Given the description of an element on the screen output the (x, y) to click on. 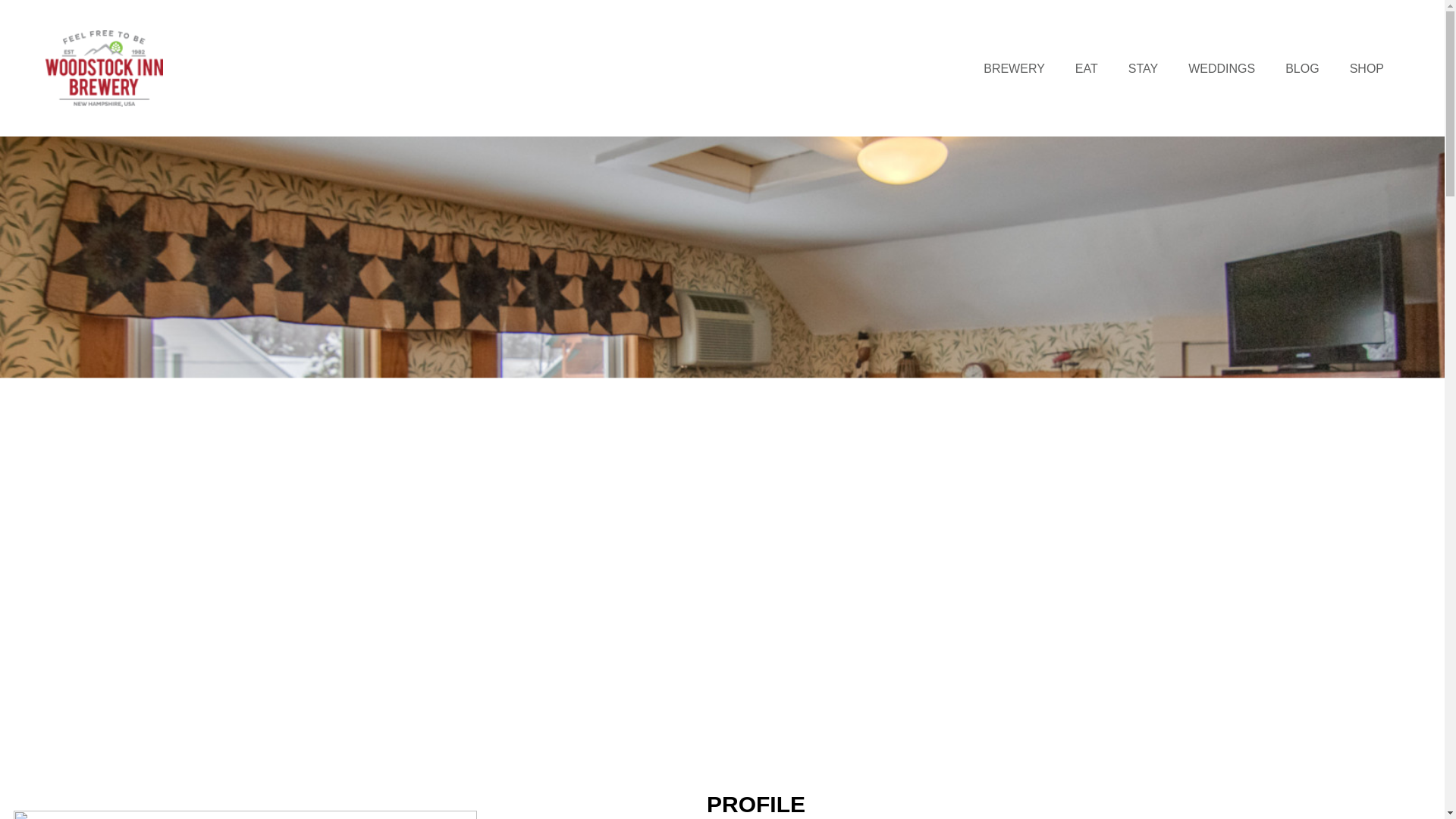
EAT (1085, 68)
BREWERY (1013, 68)
BLOG (1301, 68)
SHOP (1366, 68)
STAY (1142, 68)
WEDDINGS (1221, 68)
